Given the description of an element on the screen output the (x, y) to click on. 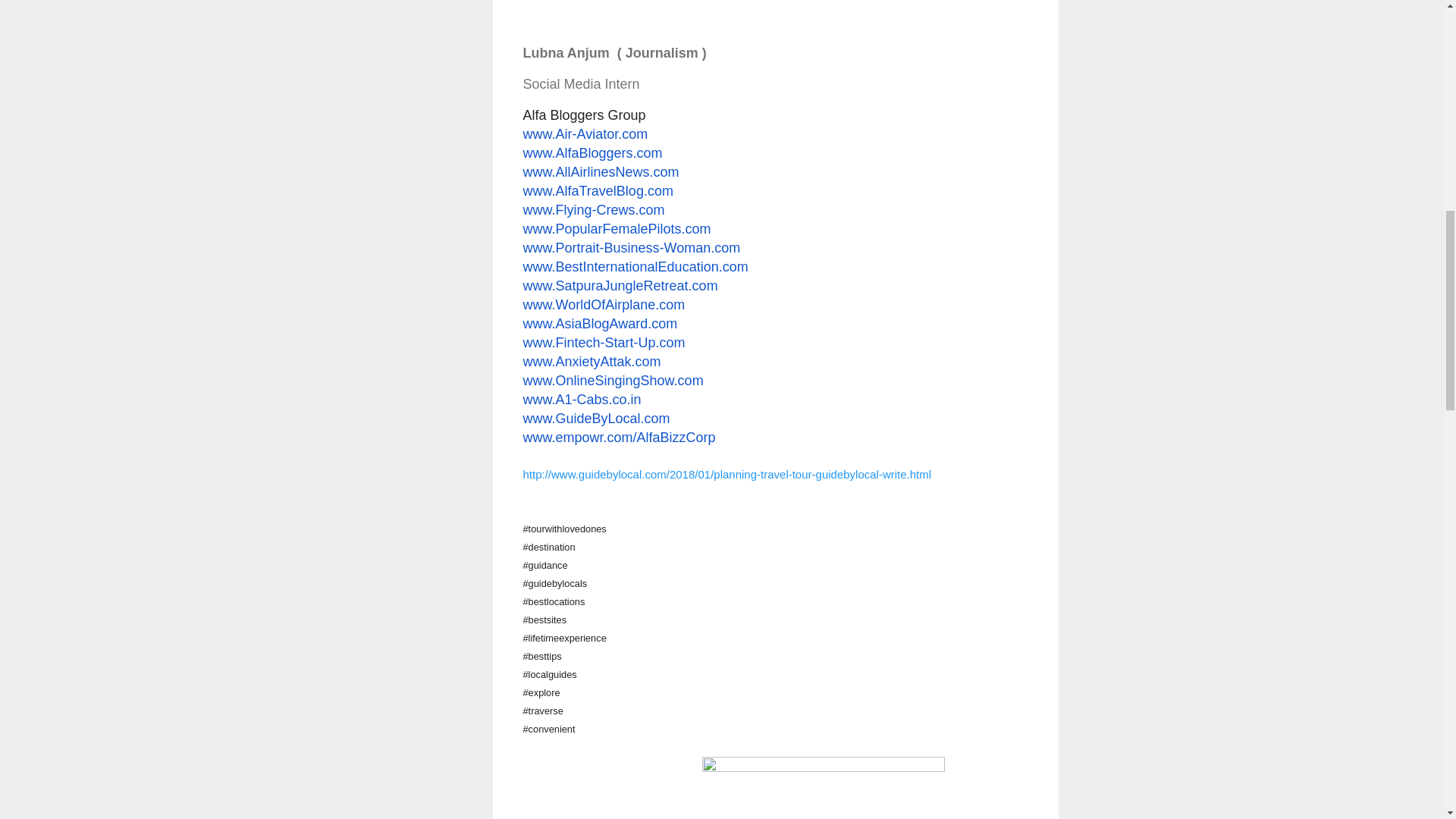
www.Fintech-Start-Up.com (603, 342)
www.PopularFemalePilots.com (616, 228)
www.AllAirlinesNews.com (600, 171)
www.SatpuraJungleRetreat.com (619, 285)
www.WorldOfAirplane.com (603, 305)
www.Air-Aviator.com (584, 133)
www.AsiaBlogAward.com (600, 323)
www.Portrait-Business-Woman.com (631, 246)
www.AlfaTravelBlog.com (597, 191)
www.Flying-Crews.com (593, 209)
www.A1-Cabs.co.in (582, 399)
www.BestInternationalEducation.com (635, 267)
www.AlfaBloggers.com (592, 153)
www.OnlineSingingShow.com (612, 380)
www.GuideByLocal.com (595, 418)
